Given the description of an element on the screen output the (x, y) to click on. 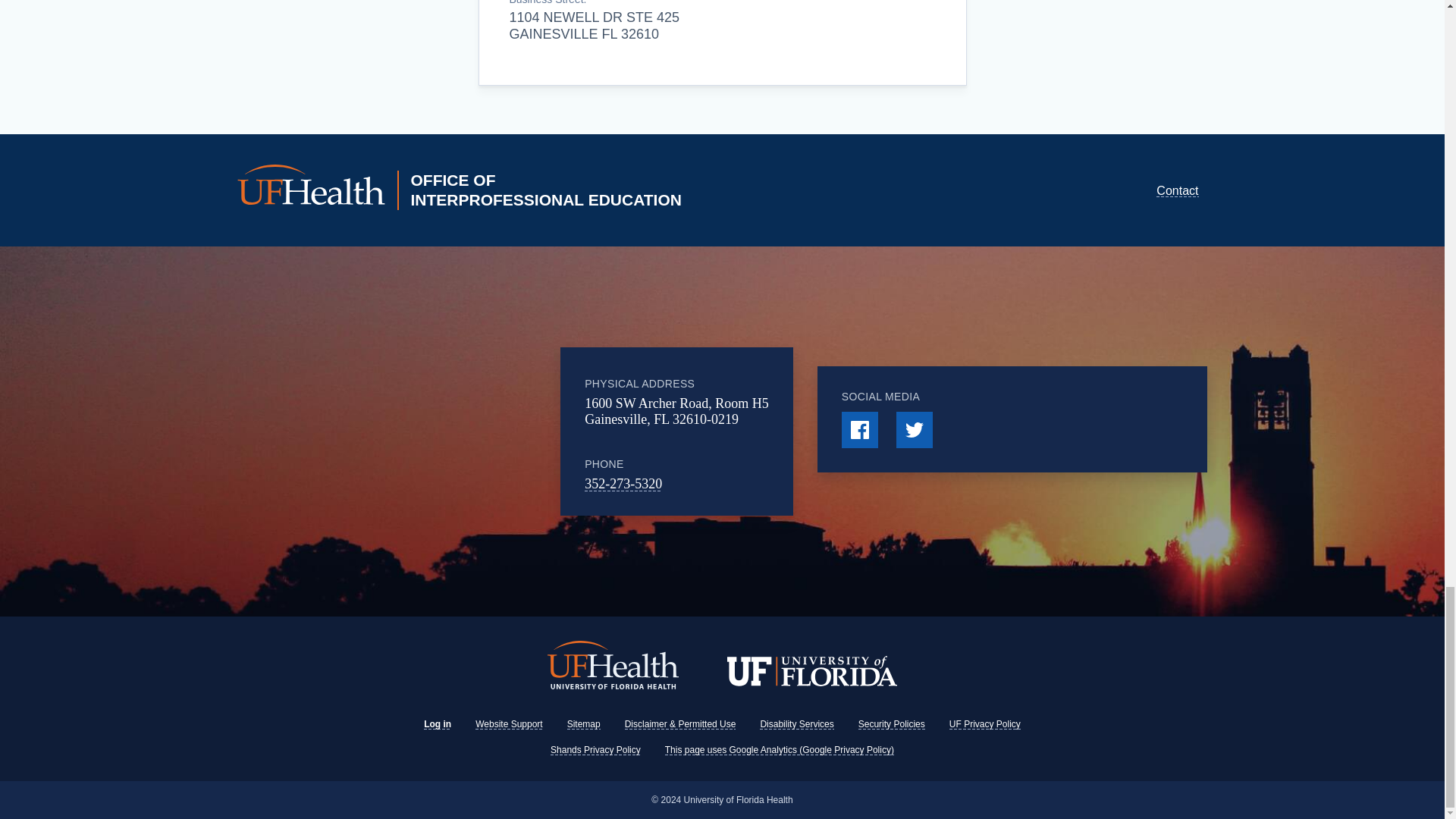
Website Support (509, 724)
Contact (1177, 190)
Log in (437, 724)
UF Privacy Policy (984, 724)
Shands Privacy Policy (595, 749)
352-273-5320 (623, 483)
Sitemap (583, 724)
Google Maps Embed (446, 431)
Security Policies (891, 724)
Disability Services (796, 724)
